Given the description of an element on the screen output the (x, y) to click on. 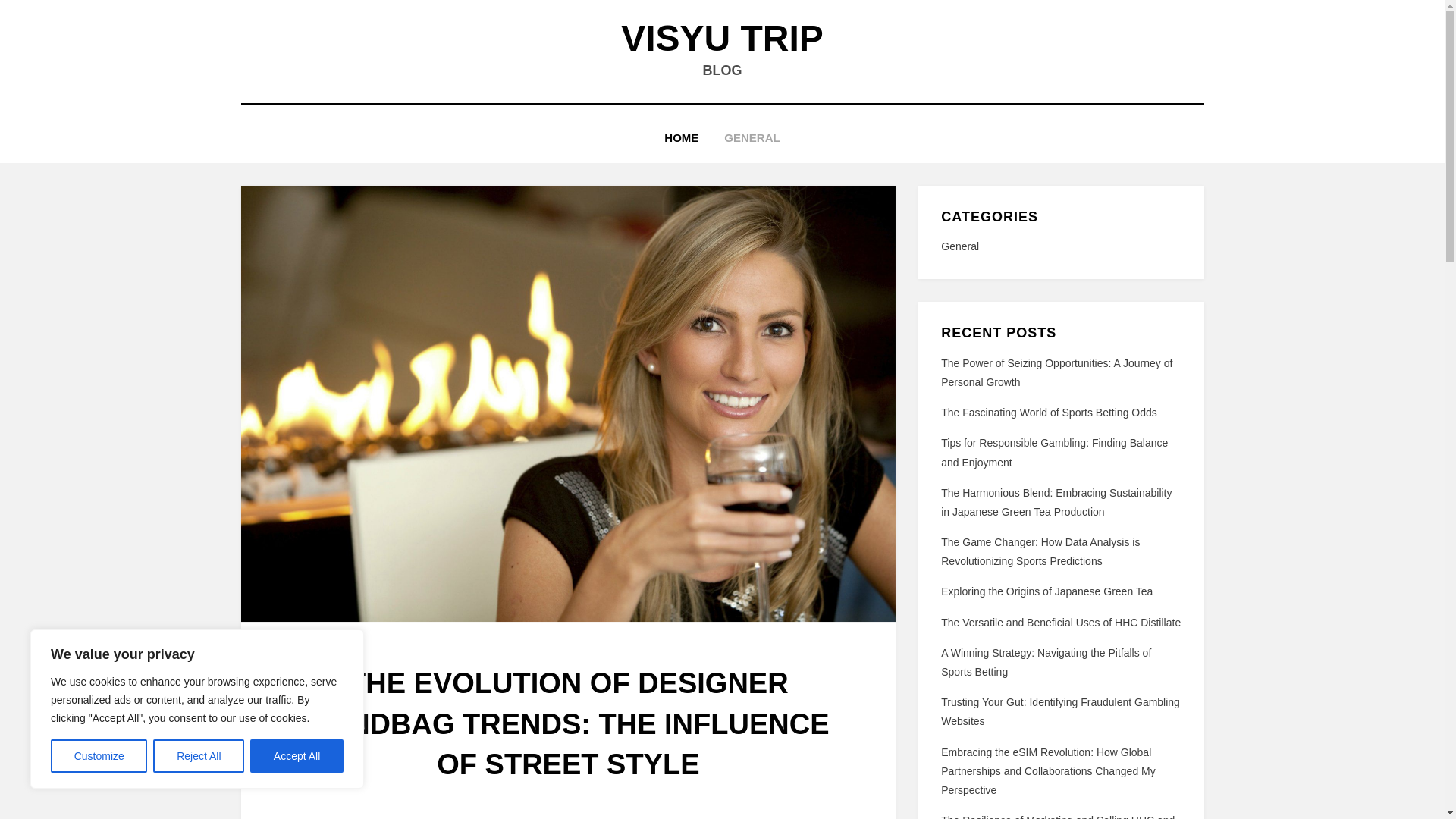
Accept All (296, 756)
The Fascinating World of Sports Betting Odds (1048, 412)
The Versatile and Beneficial Uses of HHC Distillate (1060, 622)
Reject All (198, 756)
HOME (680, 137)
Visyu Trip (722, 38)
Exploring the Origins of Japanese Green Tea (1046, 591)
VISYU TRIP (722, 38)
General (1060, 246)
Customize (98, 756)
Tips for Responsible Gambling: Finding Balance and Enjoyment (1053, 451)
